Given the description of an element on the screen output the (x, y) to click on. 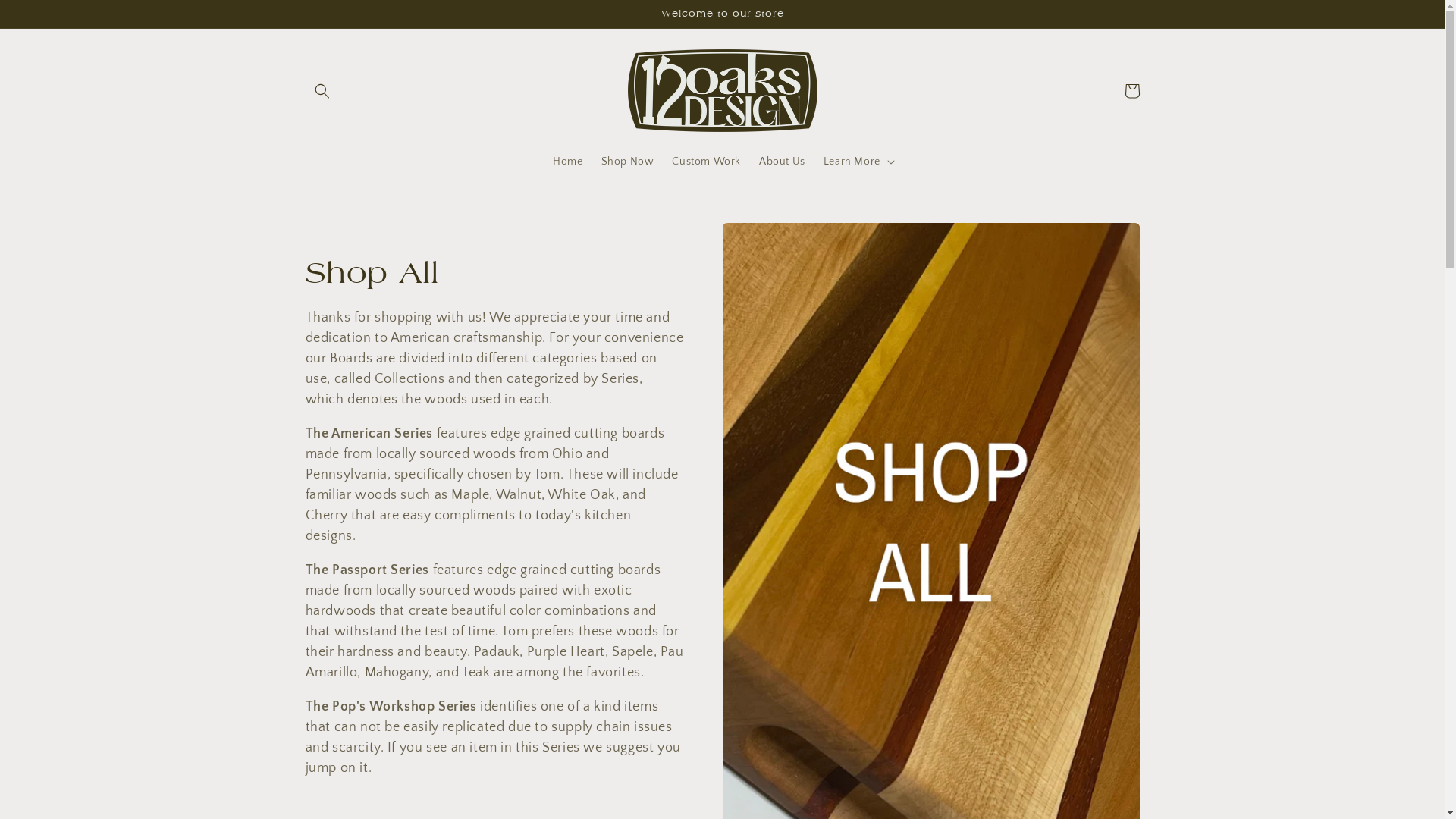
Shop Now Element type: text (627, 161)
Home Element type: text (567, 161)
Cart Element type: text (1131, 90)
Custom Work Element type: text (705, 161)
About Us Element type: text (781, 161)
